Given the description of an element on the screen output the (x, y) to click on. 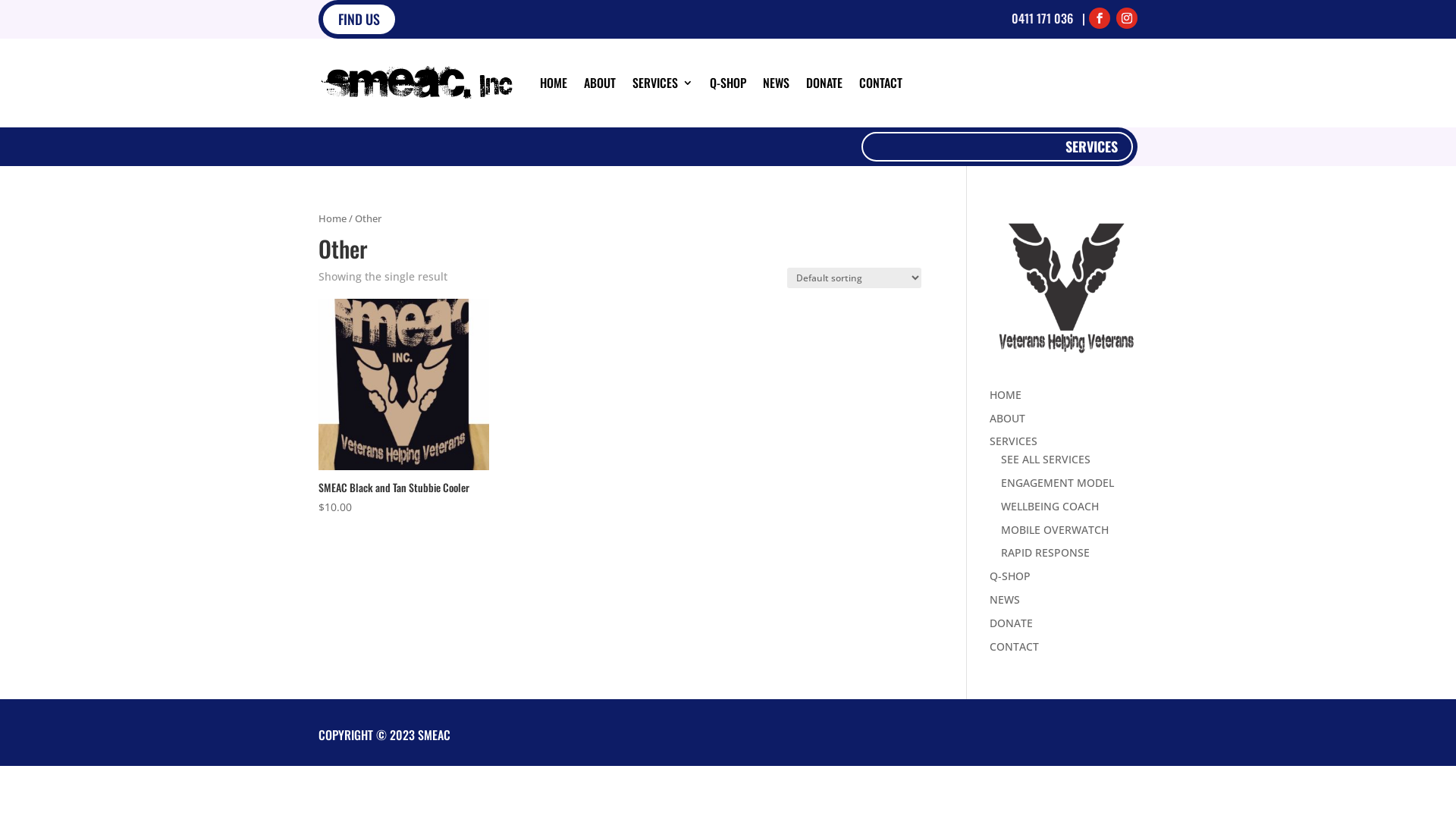
Follow on Instagram Element type: hover (1126, 17)
DONATE Element type: text (824, 82)
WELLBEING COACH Element type: text (1049, 505)
ABOUT Element type: text (599, 82)
ABOUT Element type: text (1007, 418)
Q-SHOP Element type: text (727, 82)
MOBILE OVERWATCH Element type: text (1054, 529)
SERVICES Element type: text (662, 82)
DONATE Element type: text (1010, 622)
NEWS Element type: text (1004, 599)
HOME Element type: text (1005, 394)
Follow on Facebook Element type: hover (1099, 17)
FIND US Element type: text (359, 19)
ENGAGEMENT MODEL Element type: text (1057, 482)
SERVICES Element type: text (1013, 440)
CONTACT Element type: text (1013, 646)
HOME Element type: text (553, 82)
SEE ALL SERVICES Element type: text (1045, 458)
Home Element type: text (332, 218)
SERVICES Element type: text (996, 146)
SMEAC Black and Tan Stubbie Cooler
$10.00 Element type: text (403, 406)
Q-SHOP Element type: text (1009, 575)
CONTACT Element type: text (880, 82)
NEWS Element type: text (775, 82)
RAPID RESPONSE Element type: text (1045, 552)
